Given the description of an element on the screen output the (x, y) to click on. 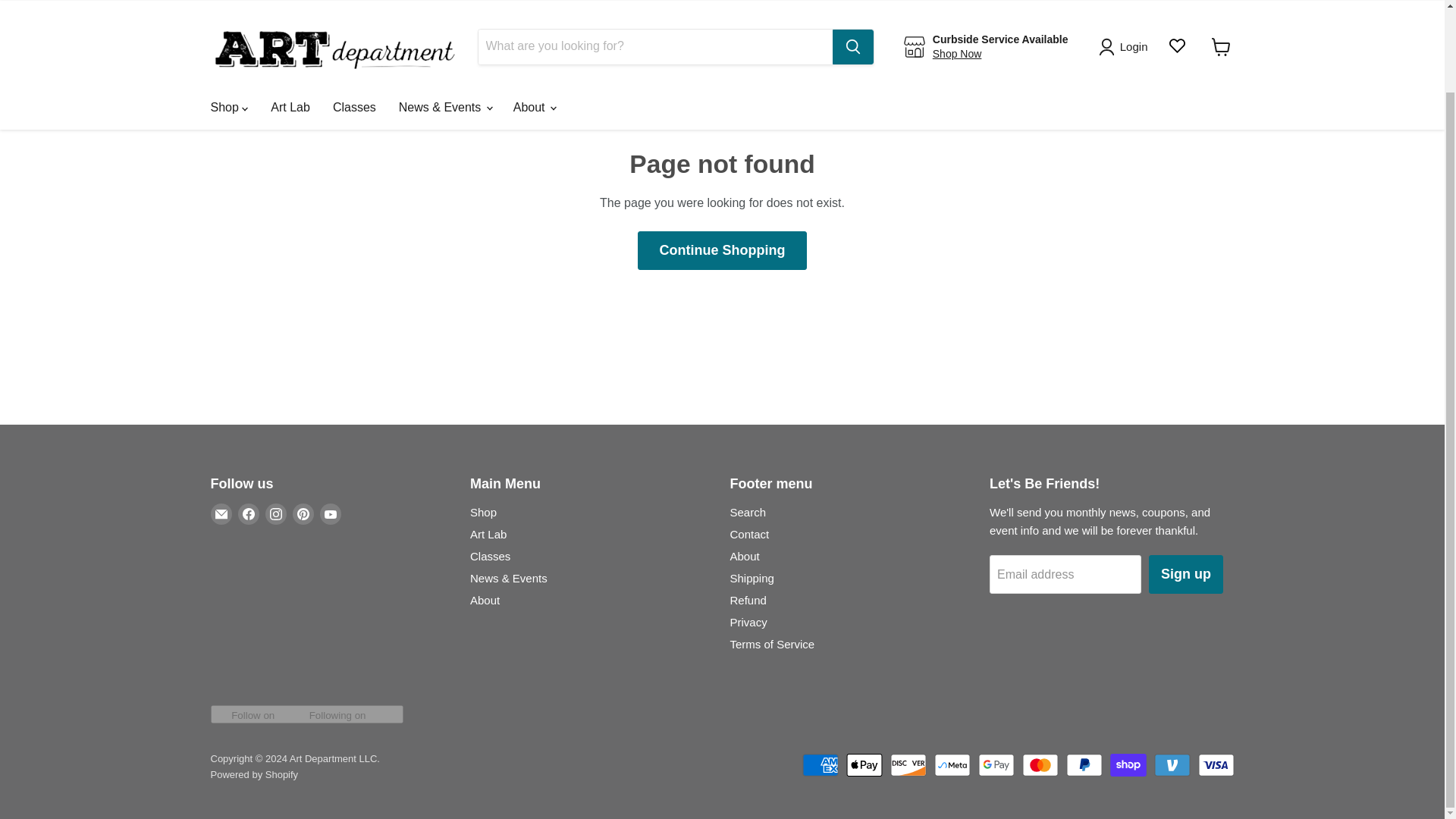
Login (1125, 0)
Facebook (248, 513)
YouTube (330, 513)
Pinterest (303, 513)
PayPal (1083, 764)
Meta Pay (952, 764)
Shop Now (957, 2)
Apple Pay (863, 764)
Discover (907, 764)
Google Pay (996, 764)
